Given the description of an element on the screen output the (x, y) to click on. 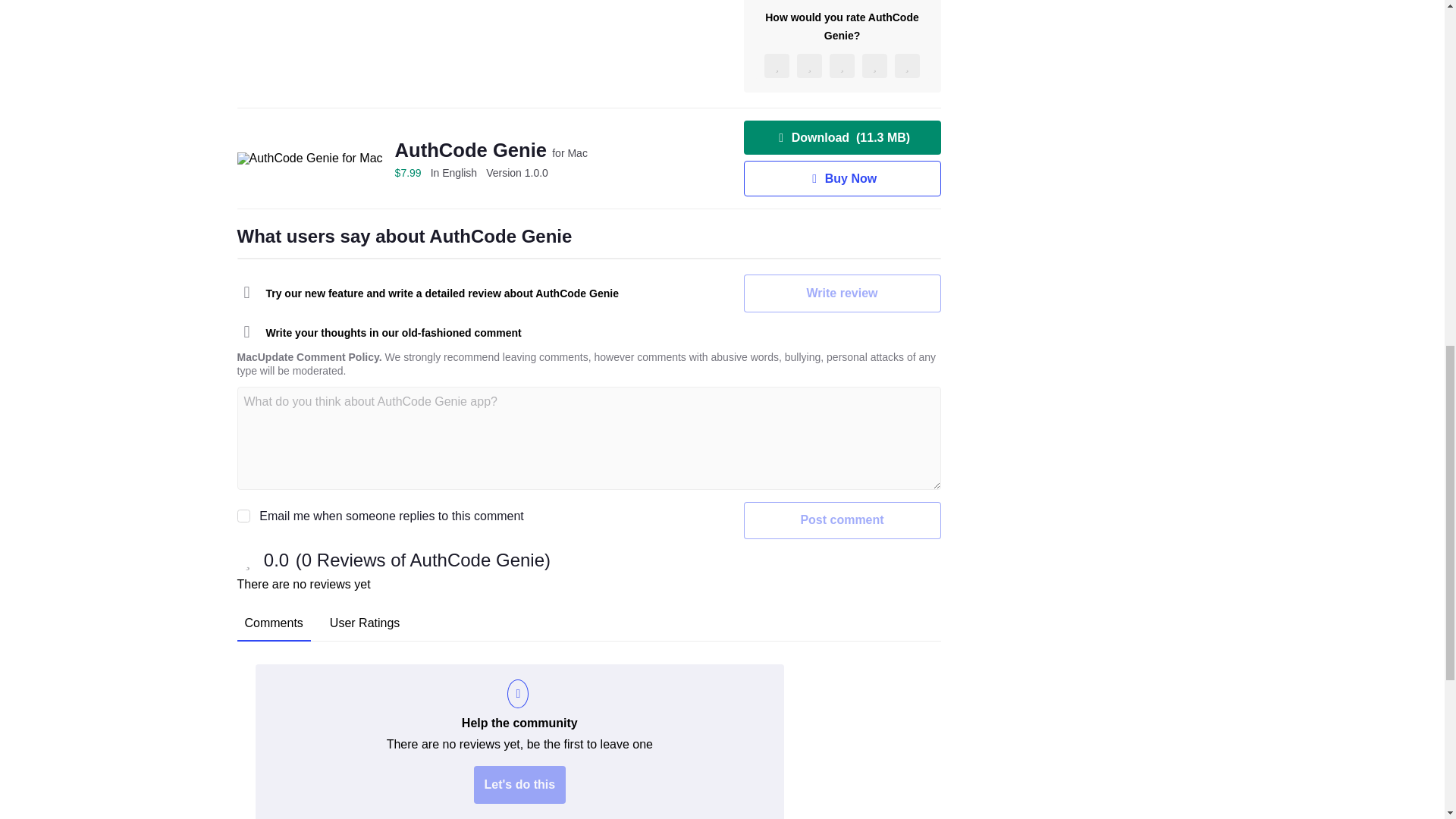
1.0.0 (517, 172)
